Given the description of an element on the screen output the (x, y) to click on. 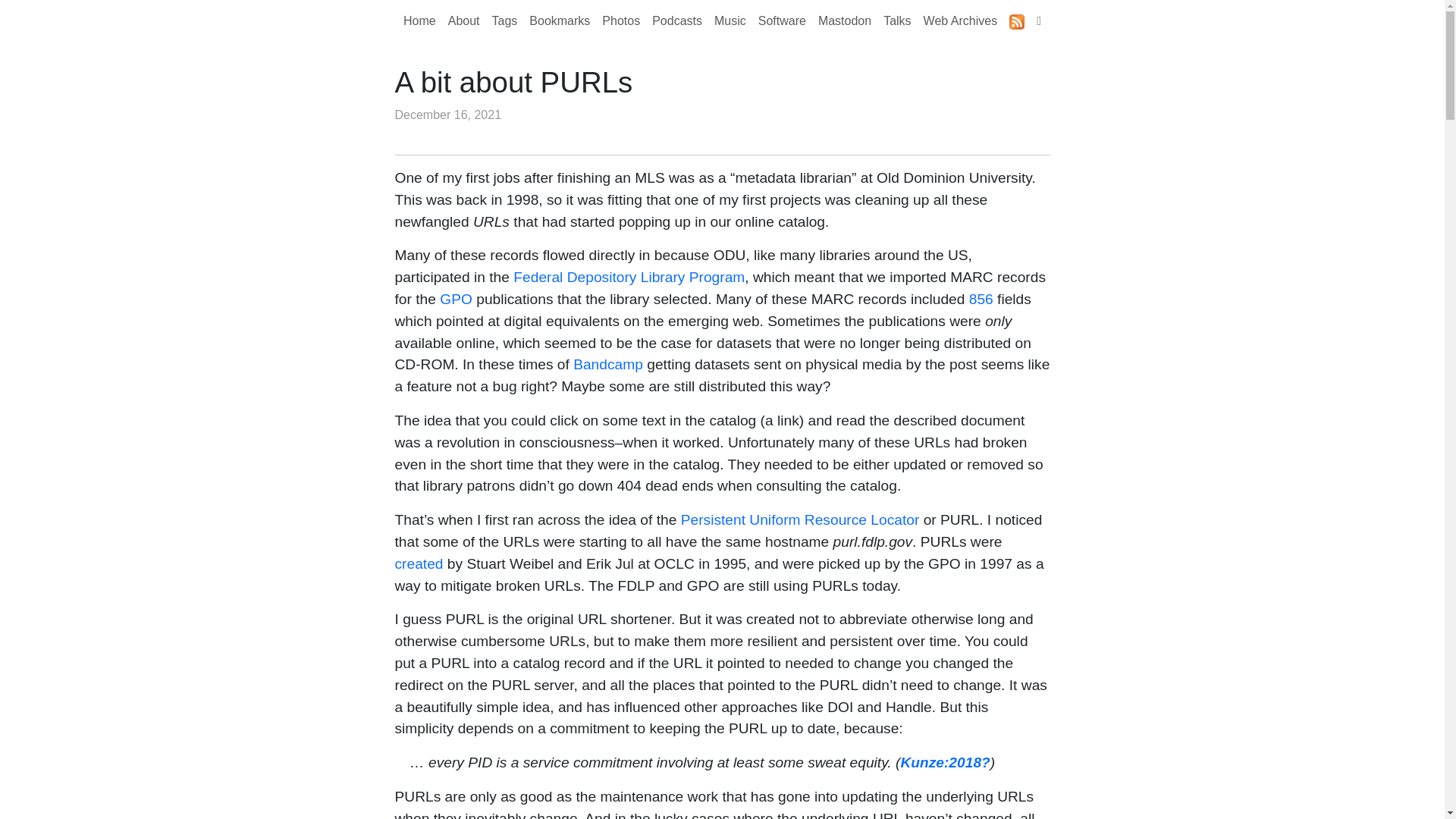
Federal Depository Library Program (628, 277)
Bookmarks (558, 20)
Music (729, 20)
metadata (415, 133)
Kunze:2018? (944, 762)
Podcasts (676, 20)
data (496, 133)
Home (419, 20)
Software (782, 20)
Bandcamp (608, 364)
Talks (897, 20)
GPO (455, 299)
856 (980, 299)
Photos (620, 20)
Web Archives (960, 20)
